Given the description of an element on the screen output the (x, y) to click on. 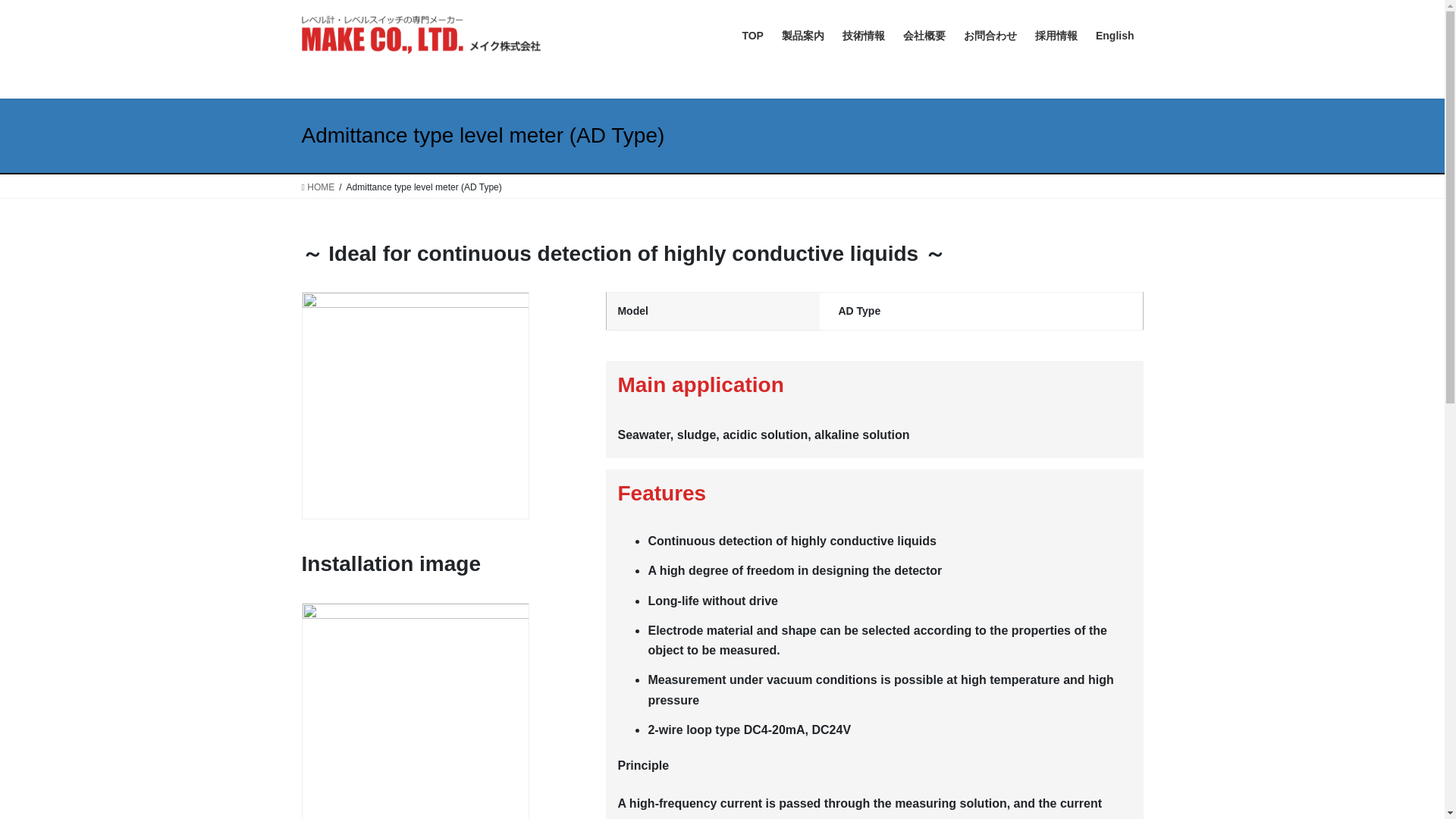
English (1114, 36)
TOP (752, 36)
HOME (317, 186)
